Given the description of an element on the screen output the (x, y) to click on. 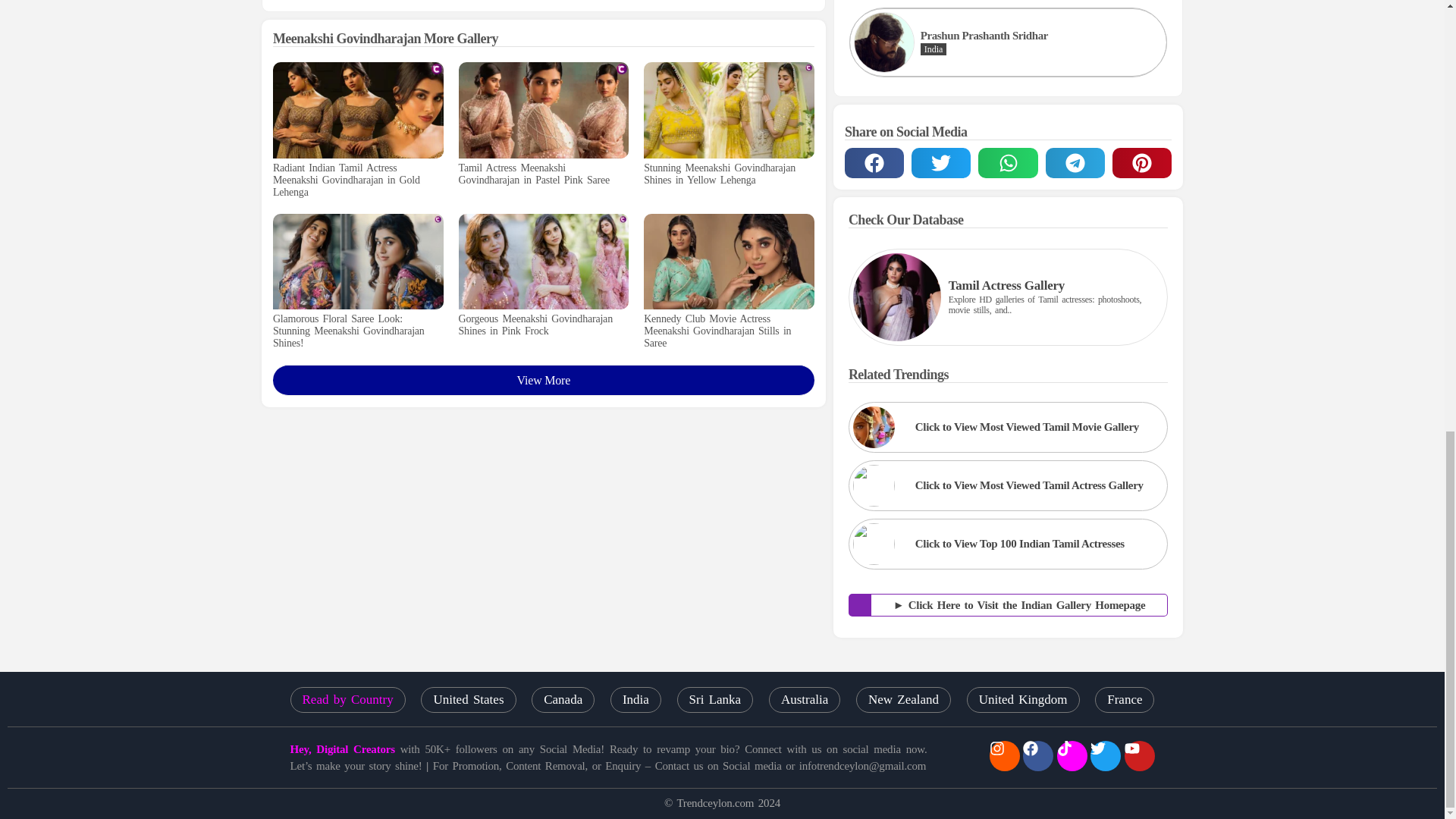
Stunning Meenakshi Govindharajan Shines in Yellow Lehenga (728, 174)
Tamil Actress Meenakshi Govindharajan in Pastel Pink Saree (543, 174)
View More (543, 379)
Gorgeous Meenakshi Govindharajan Shines in Pink Frock (543, 324)
